Given the description of an element on the screen output the (x, y) to click on. 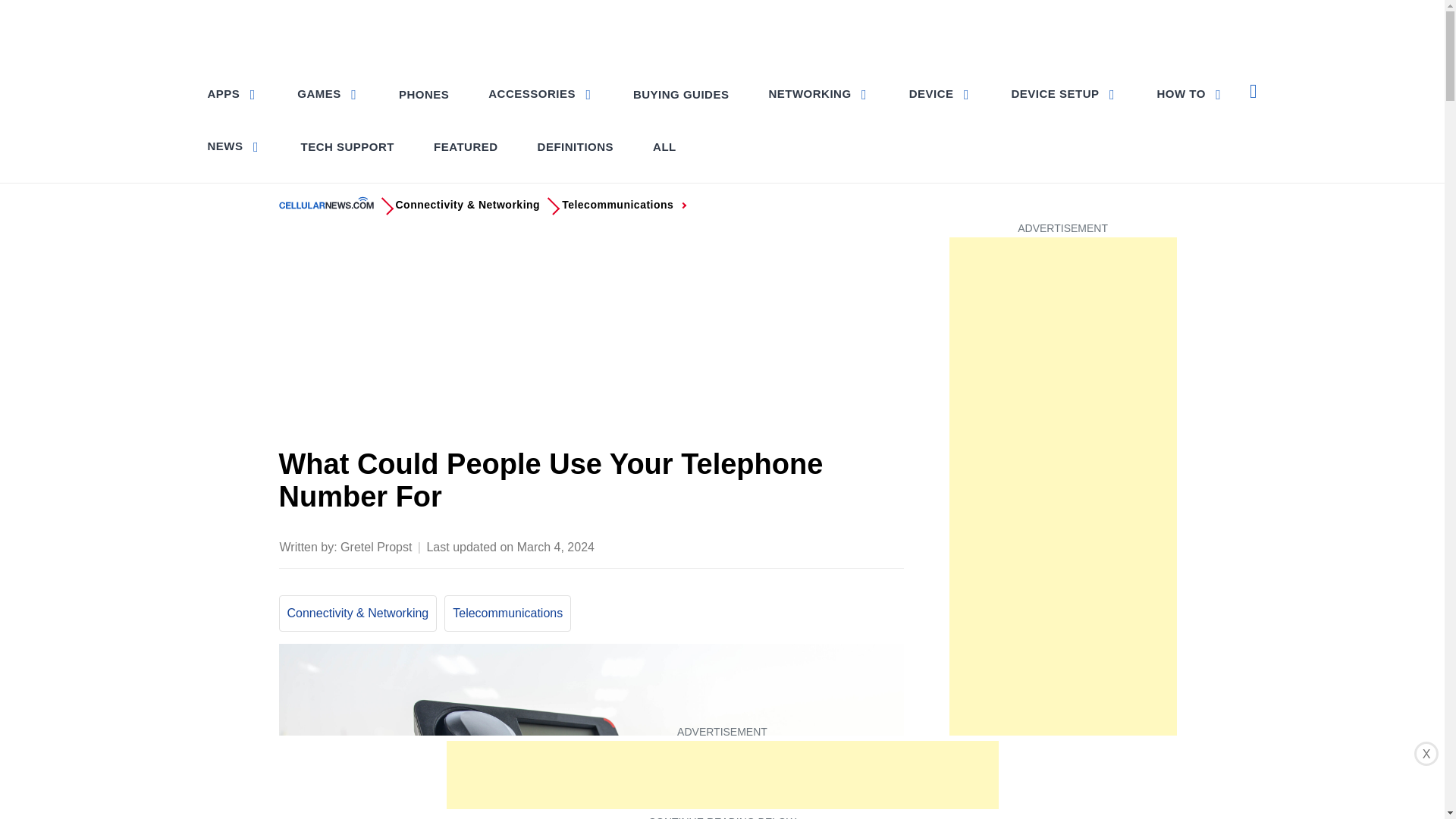
DEVICE (940, 93)
GAMES (327, 93)
BUYING GUIDES (681, 94)
Share on twitter (769, 544)
NETWORKING (818, 93)
Copy to Clipboard (860, 544)
APPS (233, 93)
PHONES (424, 94)
Share on Pinterest (800, 544)
Mail the Link (890, 544)
Share on Whatsapp (829, 544)
Share on facebook (740, 544)
ACCESSORIES (540, 93)
